Given the description of an element on the screen output the (x, y) to click on. 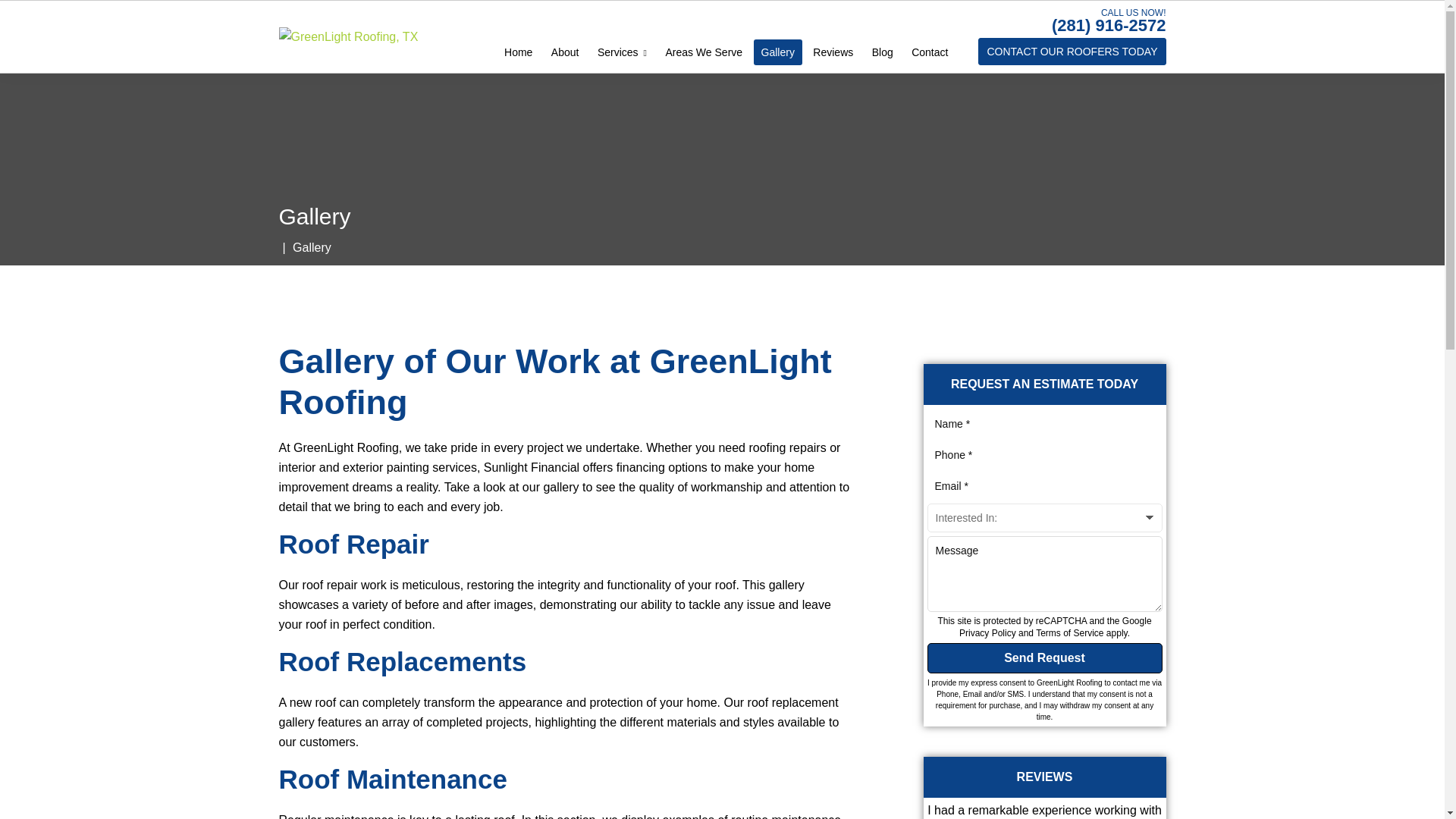
Terms of Service (1069, 633)
GreenLight Roofing (349, 36)
Blog (882, 52)
Gallery (778, 52)
About (564, 52)
Services (621, 52)
Send Request (1043, 657)
Areas We Serve (703, 52)
Home (518, 52)
CONTACT OUR ROOFERS TODAY (1072, 51)
